Given the description of an element on the screen output the (x, y) to click on. 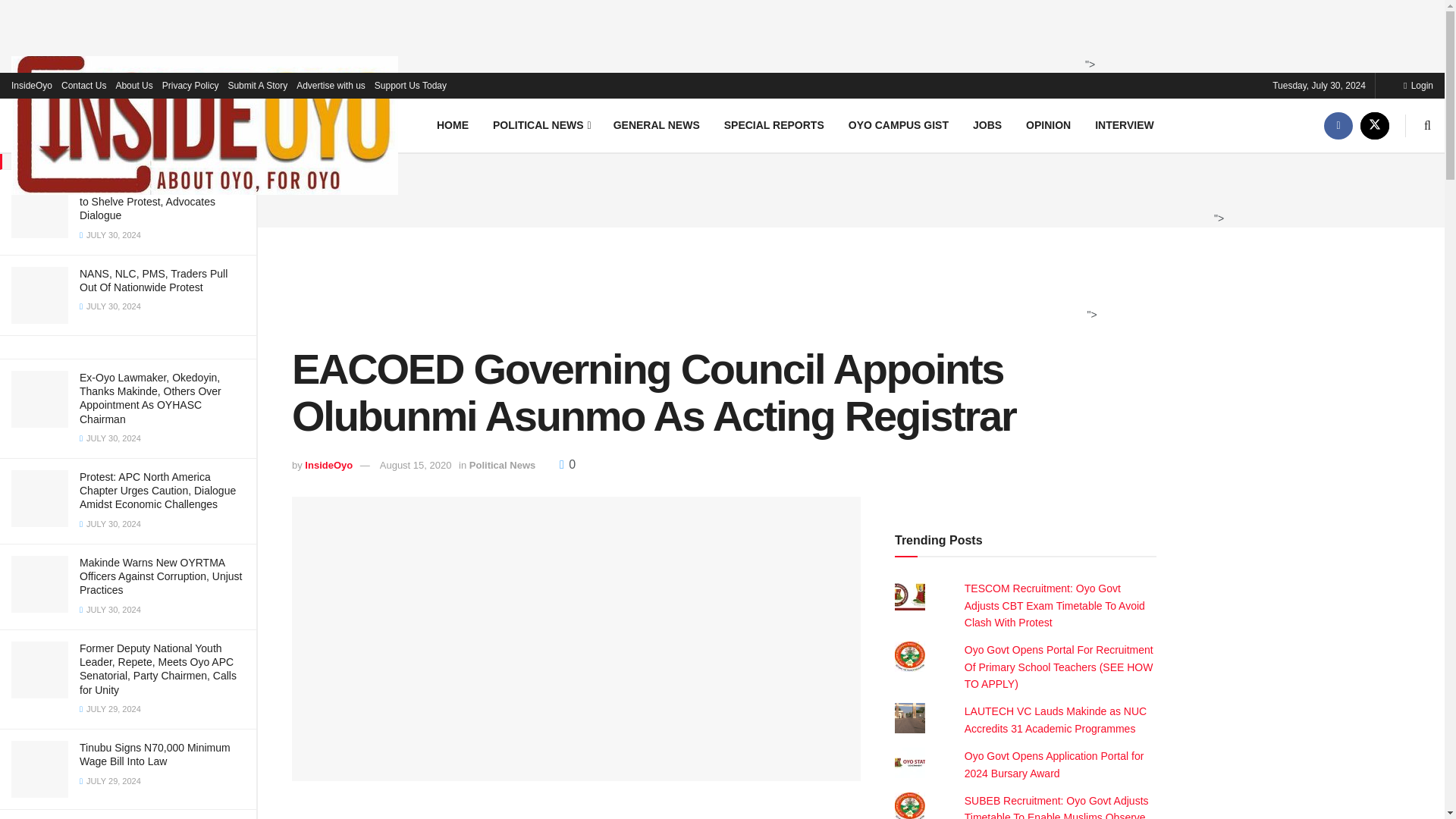
Advertise with us (331, 85)
HOME (452, 125)
Login (1417, 85)
Filter (227, 13)
Oyo Govt Opens Application Portal for 2024 Bursary Award (1053, 764)
Support Us Today (410, 85)
About Us (133, 85)
InsideOyo (31, 85)
NANS, NLC, PMS, Traders Pull Out Of Nationwide Protest (153, 280)
Contact Us (83, 85)
Tinubu Signs N70,000 Minimum Wage Bill Into Law (155, 754)
